Given the description of an element on the screen output the (x, y) to click on. 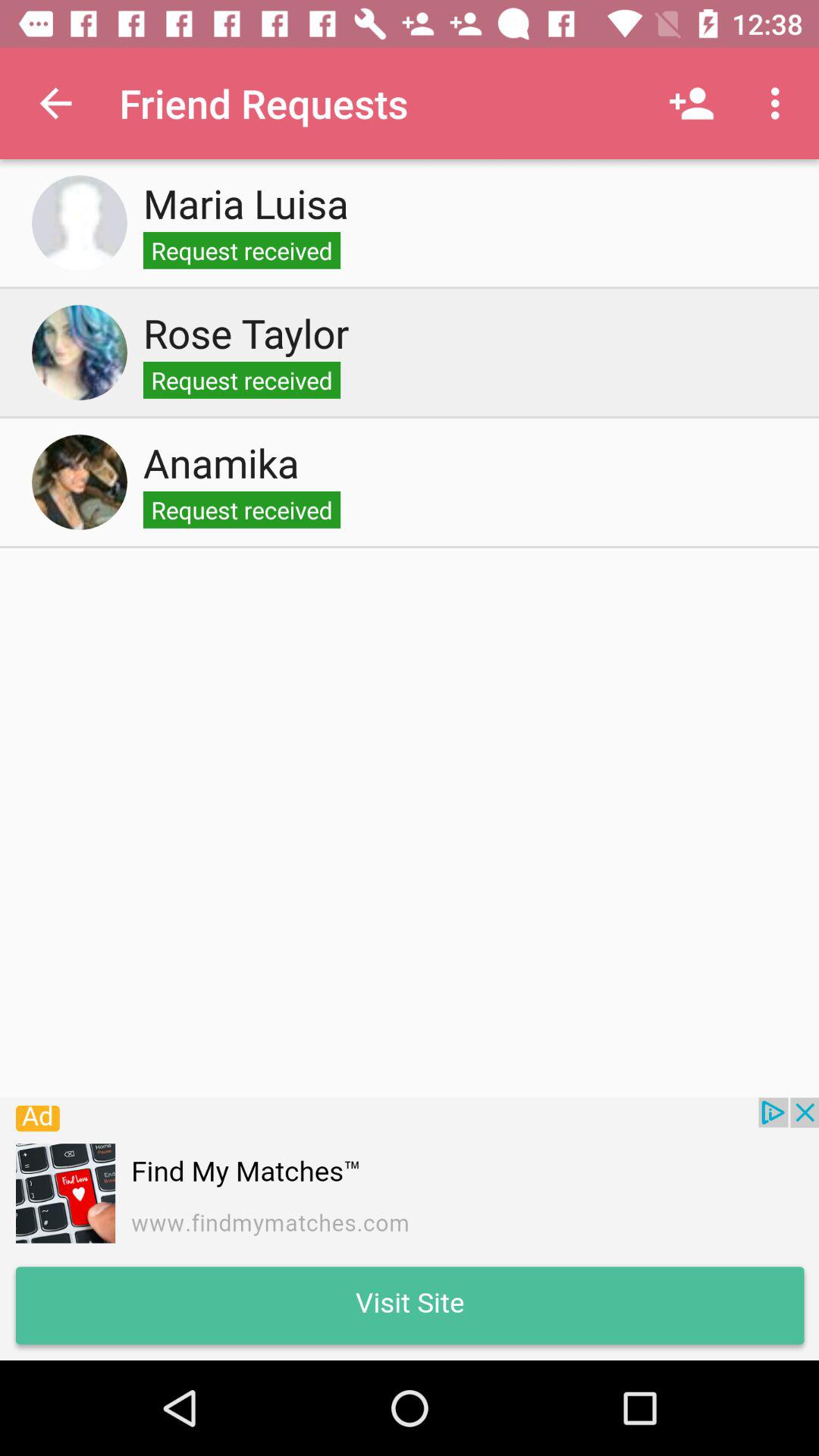
select the button which is right to the text friend requests (691, 103)
go to left of rose (79, 352)
click the image at lest side of maria luisa (79, 222)
click on the image to the left of anamika text name (79, 481)
